Given the description of an element on the screen output the (x, y) to click on. 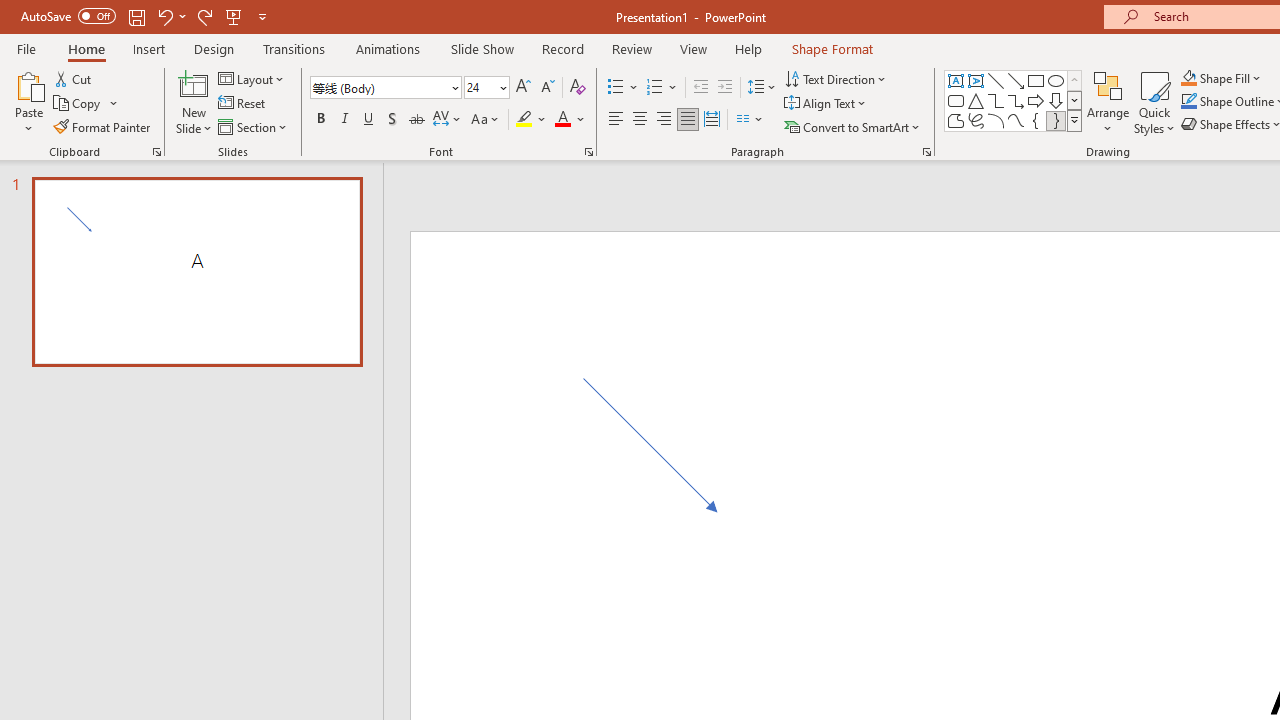
Columns (750, 119)
Line Spacing (762, 87)
Oval (1055, 80)
Align Left (616, 119)
Shapes (1074, 120)
Italic (344, 119)
Shape Format (832, 48)
Rectangle: Rounded Corners (955, 100)
